Given the description of an element on the screen output the (x, y) to click on. 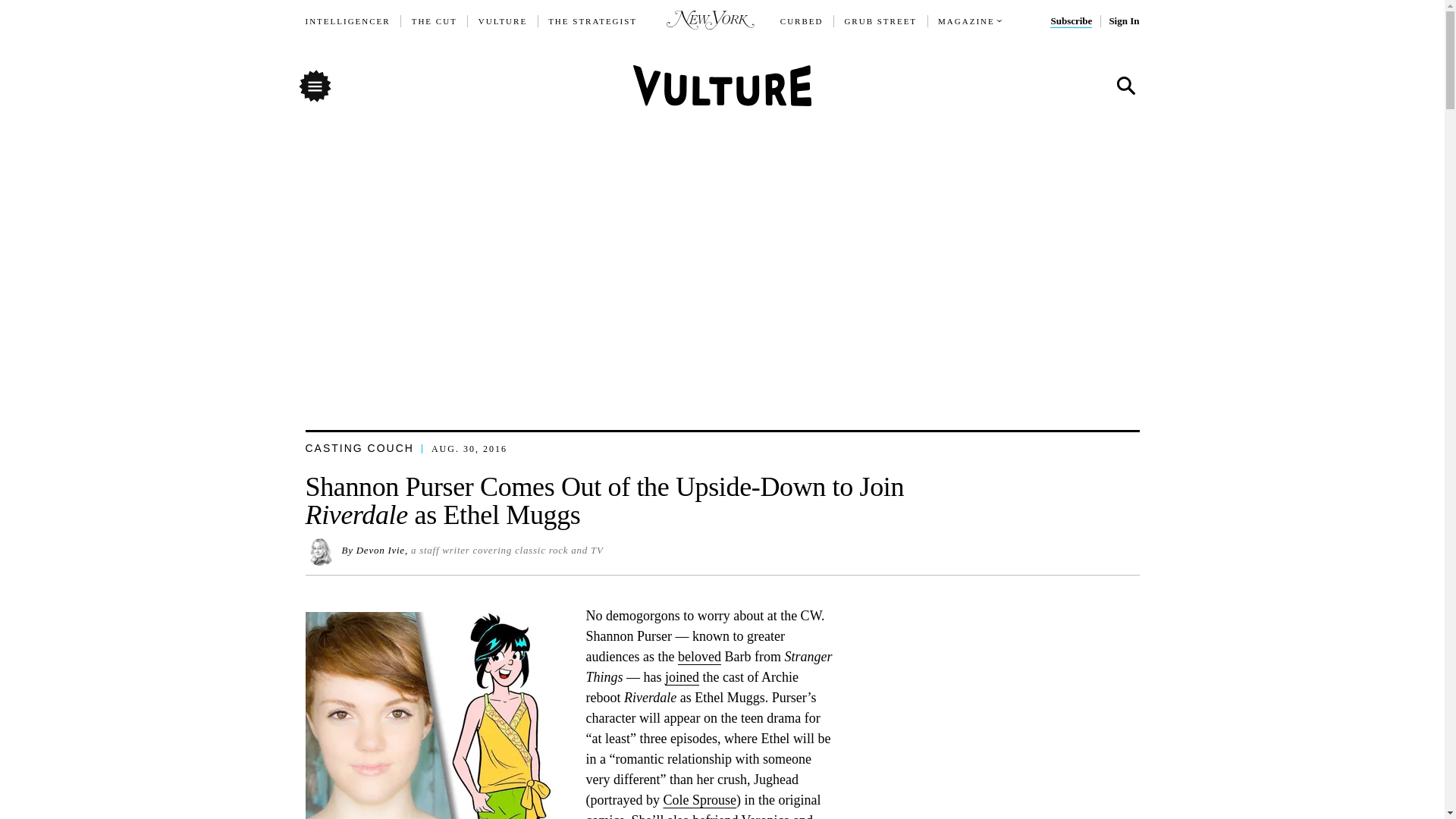
Search (1124, 86)
CURBED (802, 21)
VULTURE (503, 21)
THE CUT (434, 21)
Sign In (1123, 21)
Menu (314, 84)
THE STRATEGIST (592, 21)
Subscribe (1070, 21)
MAGAZINE (965, 21)
INTELLIGENCER (347, 21)
